Given the description of an element on the screen output the (x, y) to click on. 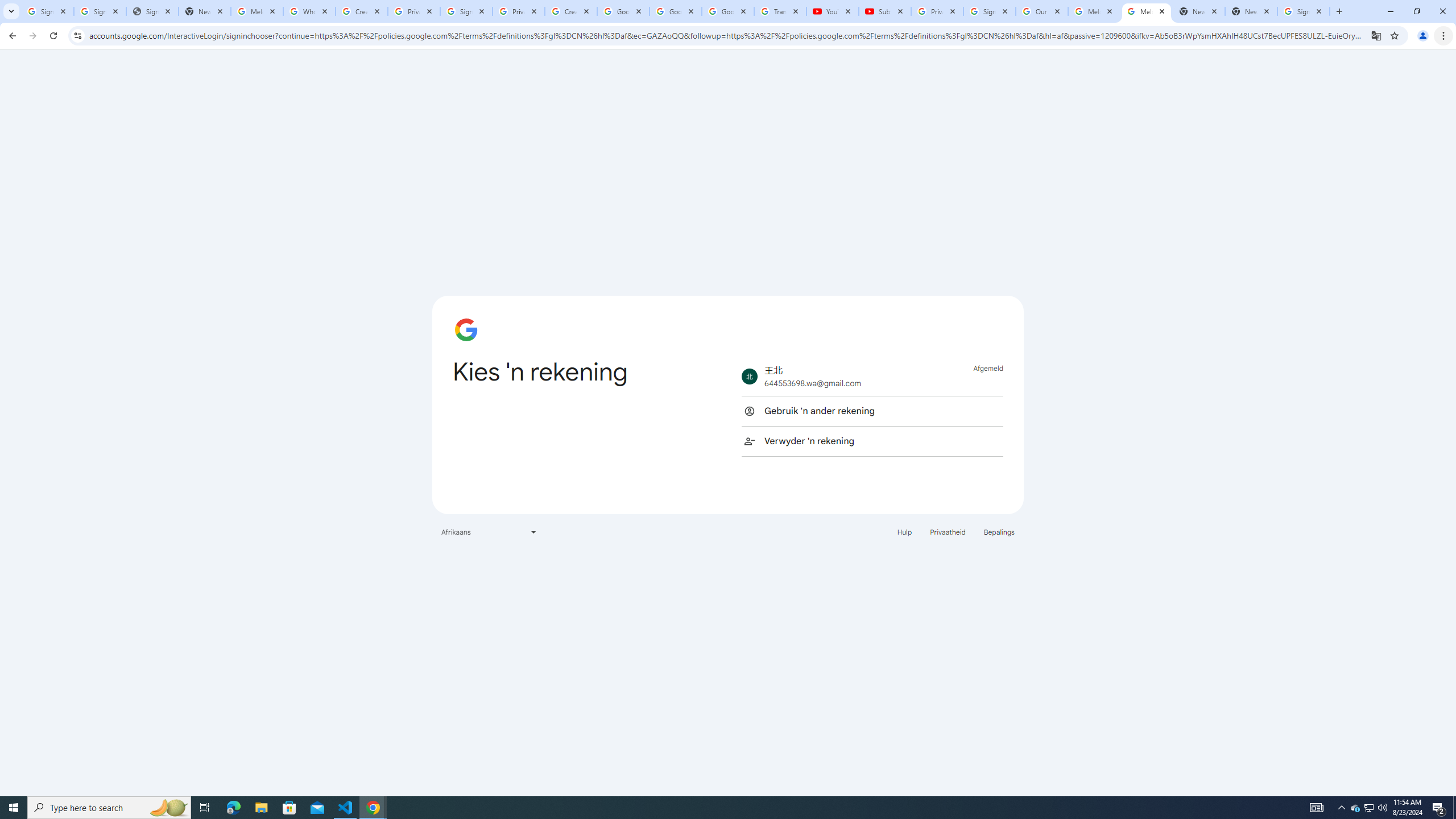
Gebruik 'n ander rekening (871, 410)
Sign in - Google Accounts (466, 11)
Verwyder 'n rekening (871, 440)
Sign in - Google Accounts (99, 11)
Hulp (903, 531)
Create your Google Account (571, 11)
